Given the description of an element on the screen output the (x, y) to click on. 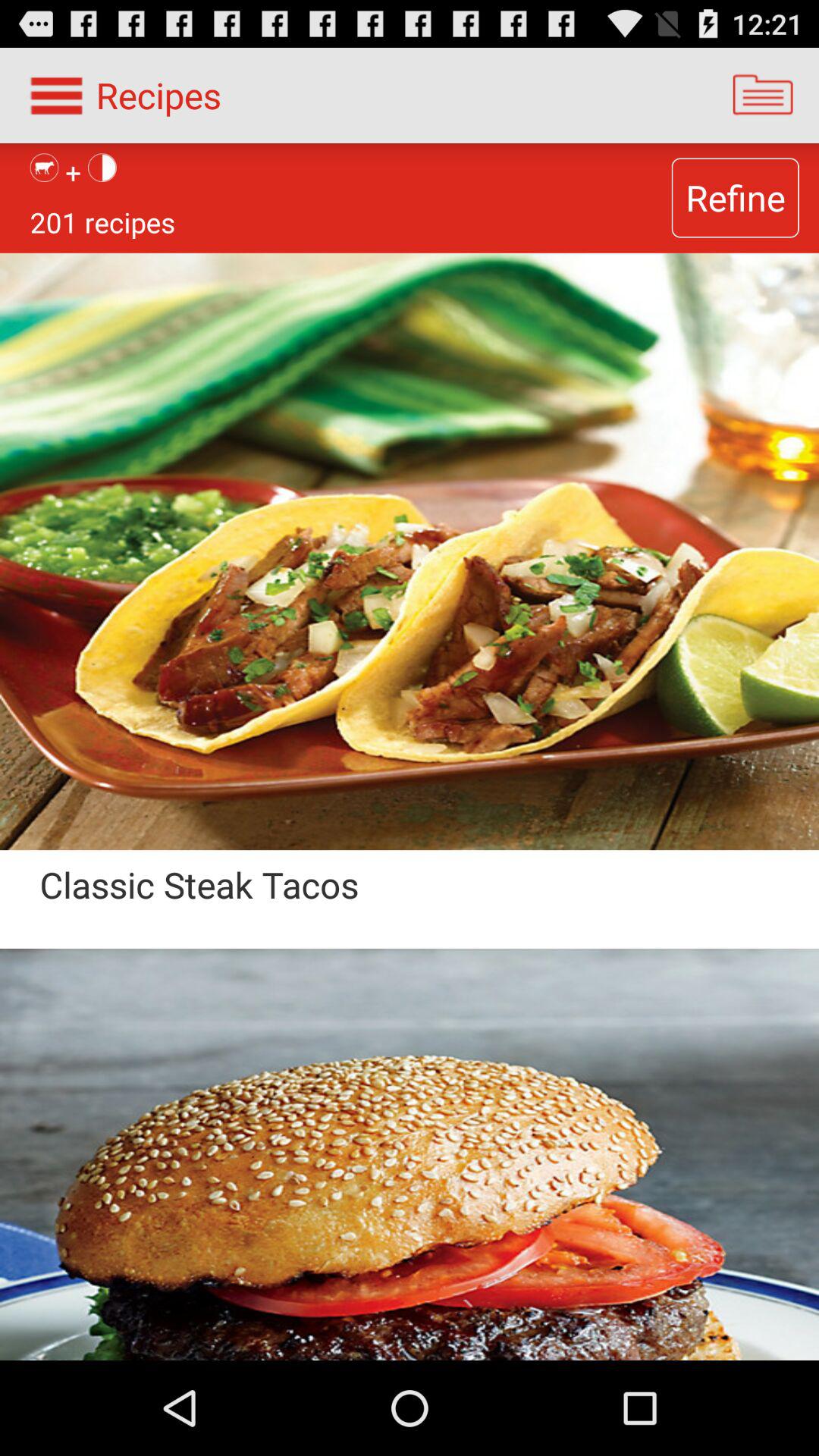
choose the icon next to the recipes (763, 95)
